Given the description of an element on the screen output the (x, y) to click on. 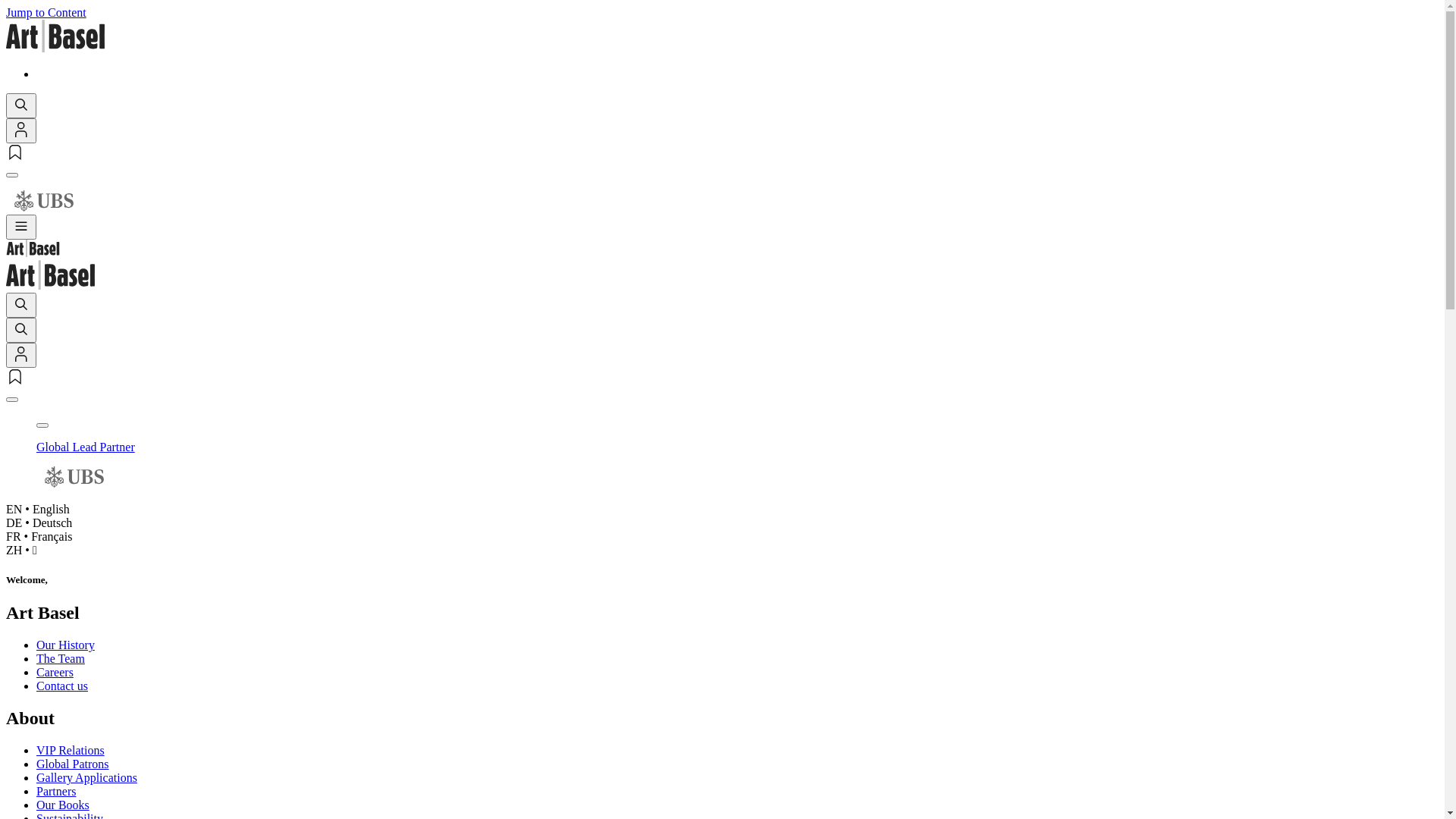
The Team Element type: text (60, 658)
Our History Element type: text (65, 644)
Gallery Applications Element type: text (86, 777)
Jump to Content Element type: text (46, 12)
Open Search Element type: hover (21, 304)
Global Patrons Element type: text (72, 763)
Our Books Element type: text (62, 804)
undefined undefined Element type: text (722, 202)
Open Profile Flyout Element type: hover (21, 130)
Careers Element type: text (54, 671)
Global Lead Partner
undefined undefined Element type: text (737, 465)
Partners Element type: text (55, 790)
Open Menu Element type: hover (21, 226)
Open Search Element type: hover (21, 329)
Open Profile Flyout Element type: hover (21, 354)
Open Language Selection Flyout Element type: hover (12, 399)
Contact us Element type: text (61, 685)
Open Language Selection Flyout Element type: hover (12, 174)
VIP Relations Element type: text (70, 749)
Open Search Element type: hover (21, 105)
